Given the description of an element on the screen output the (x, y) to click on. 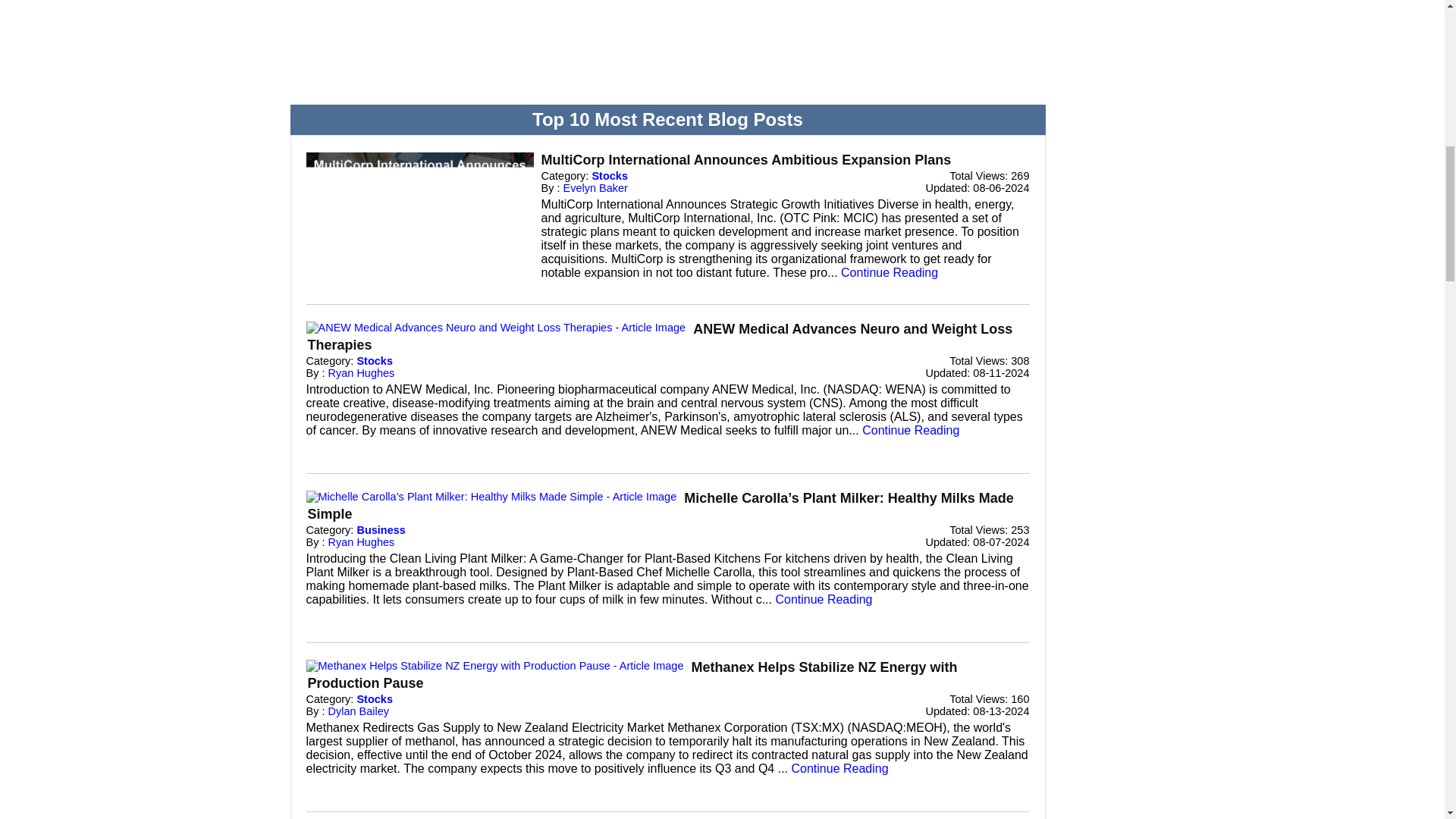
Blog Category: Stocks (374, 360)
Blog Category: Business (380, 530)
Article Author: Evelyn Baker's Profile (595, 187)
Article Author: Ryan Hughes's Profile (361, 541)
